Given the description of an element on the screen output the (x, y) to click on. 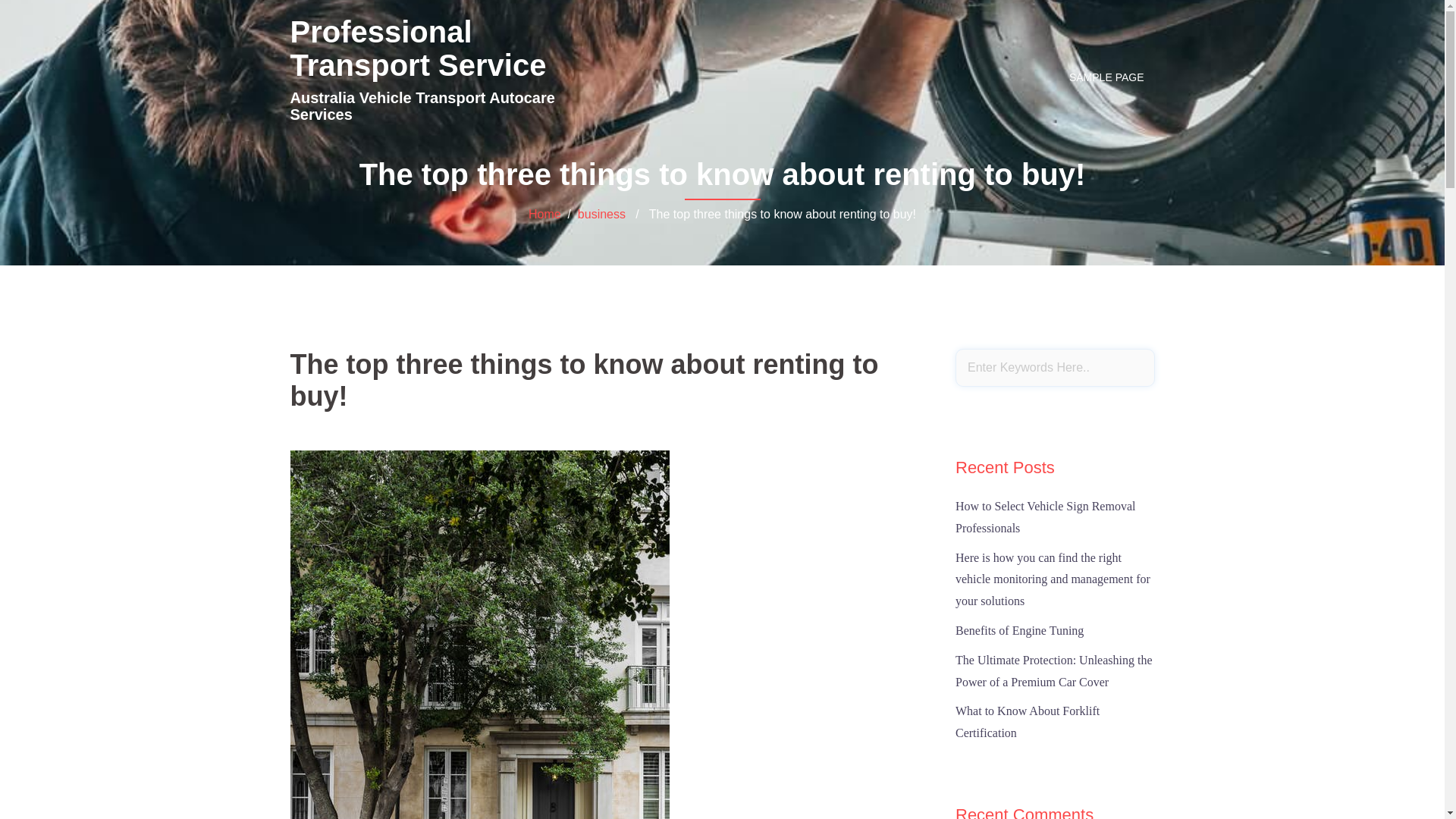
Home Element type: text (544, 213)
Search Element type: text (50, 18)
Professional Transport Service Element type: text (417, 48)
SAMPLE PAGE Element type: text (1106, 77)
How to Select Vehicle Sign Removal Professionals Element type: text (1045, 516)
business Element type: text (601, 213)
What to Know About Forklift Certification Element type: text (1027, 721)
Benefits of Engine Tuning Element type: text (1019, 630)
